Given the description of an element on the screen output the (x, y) to click on. 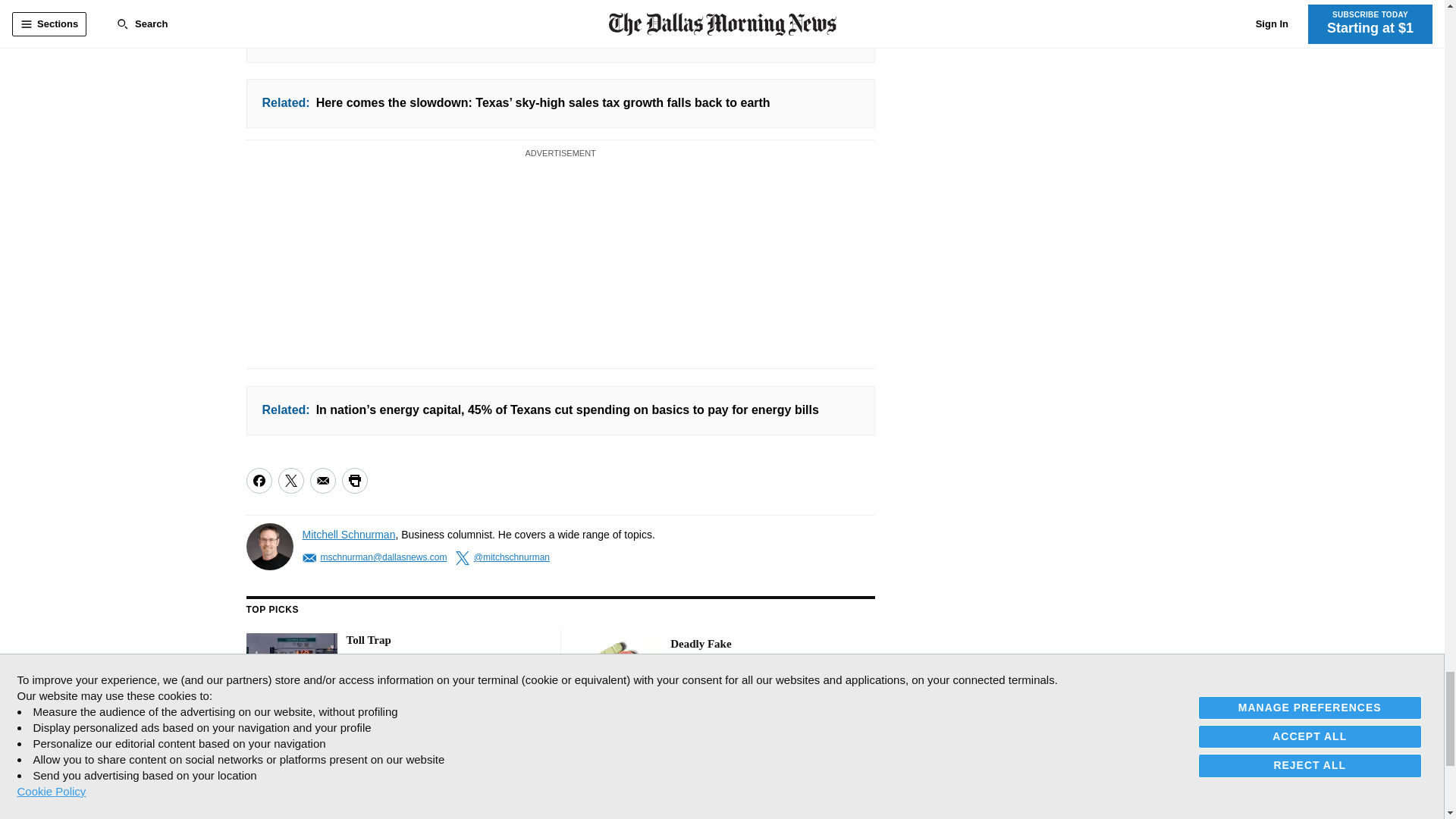
The Dallas Morning News on Facebook (259, 781)
The Dallas Morning News on Instagram (332, 781)
Share via Email (321, 480)
The Dallas Morning News on Twitter (293, 781)
Share on Twitter (290, 480)
The Dallas Morning News on YouTube (365, 781)
Share on Facebook (258, 480)
Print (353, 480)
